Given the description of an element on the screen output the (x, y) to click on. 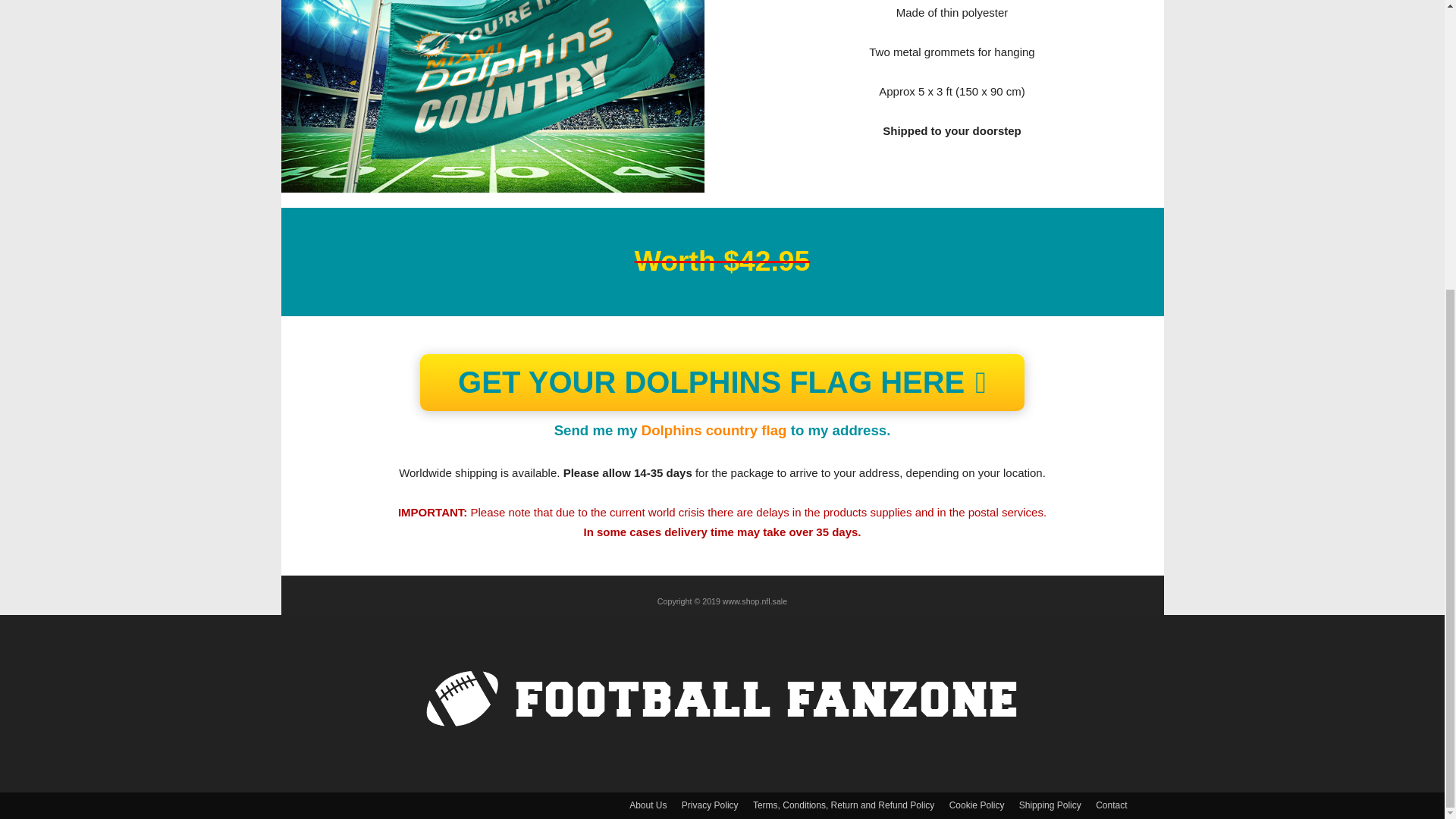
GET YOUR DOLPHINS FLAG HERE (722, 382)
About Us (647, 805)
Privacy Policy (709, 805)
Dolphins Country Flag Image (492, 96)
